Given the description of an element on the screen output the (x, y) to click on. 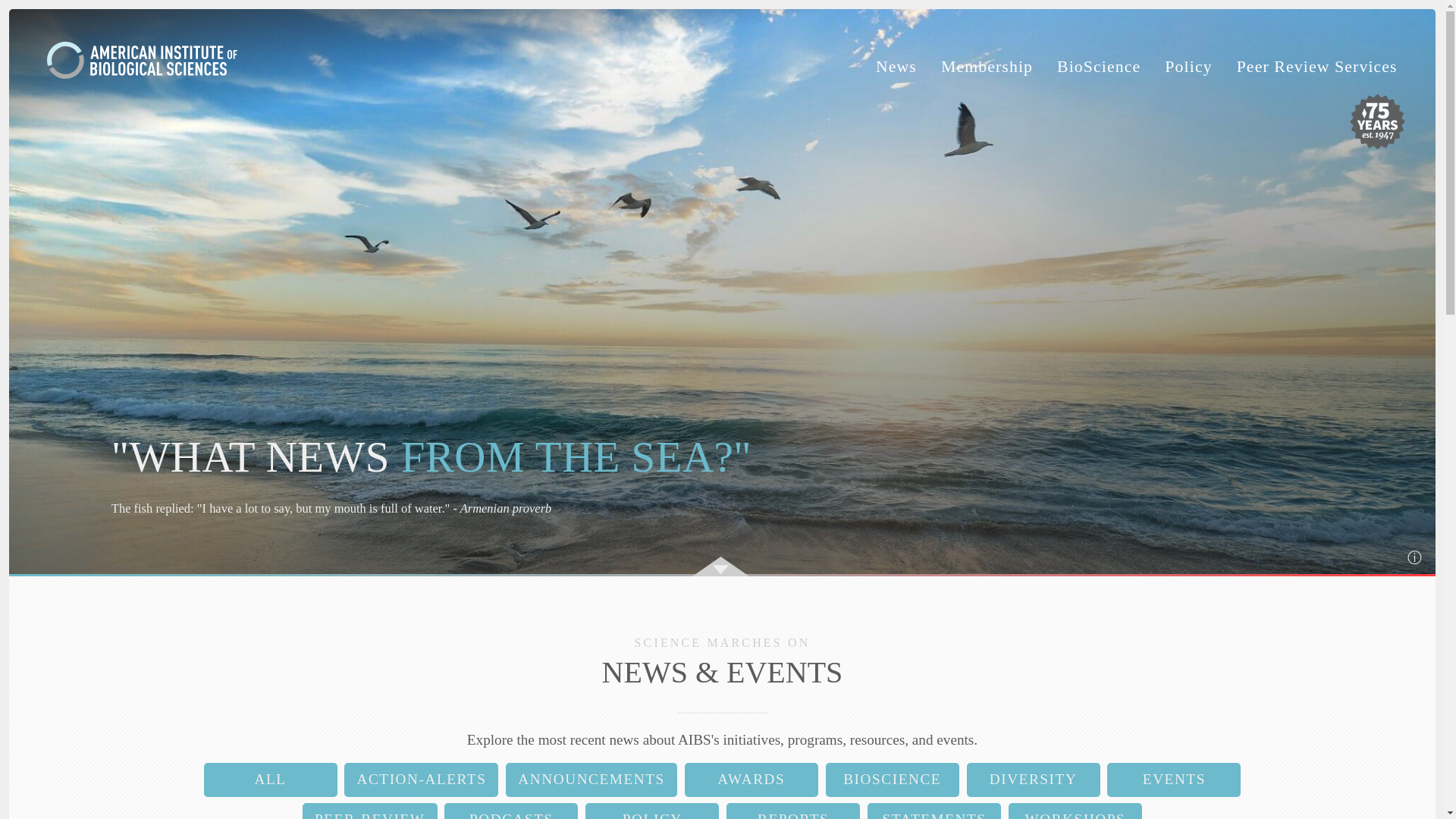
ACTION-ALERTS (420, 779)
Membership (986, 66)
Peer Review Services (1316, 66)
Policy (1187, 66)
PODCASTS (511, 811)
BioScience (1098, 66)
EVENTS (1173, 779)
ALL (270, 779)
REPORTS (793, 811)
WORKSHOPS (1075, 811)
